Given the description of an element on the screen output the (x, y) to click on. 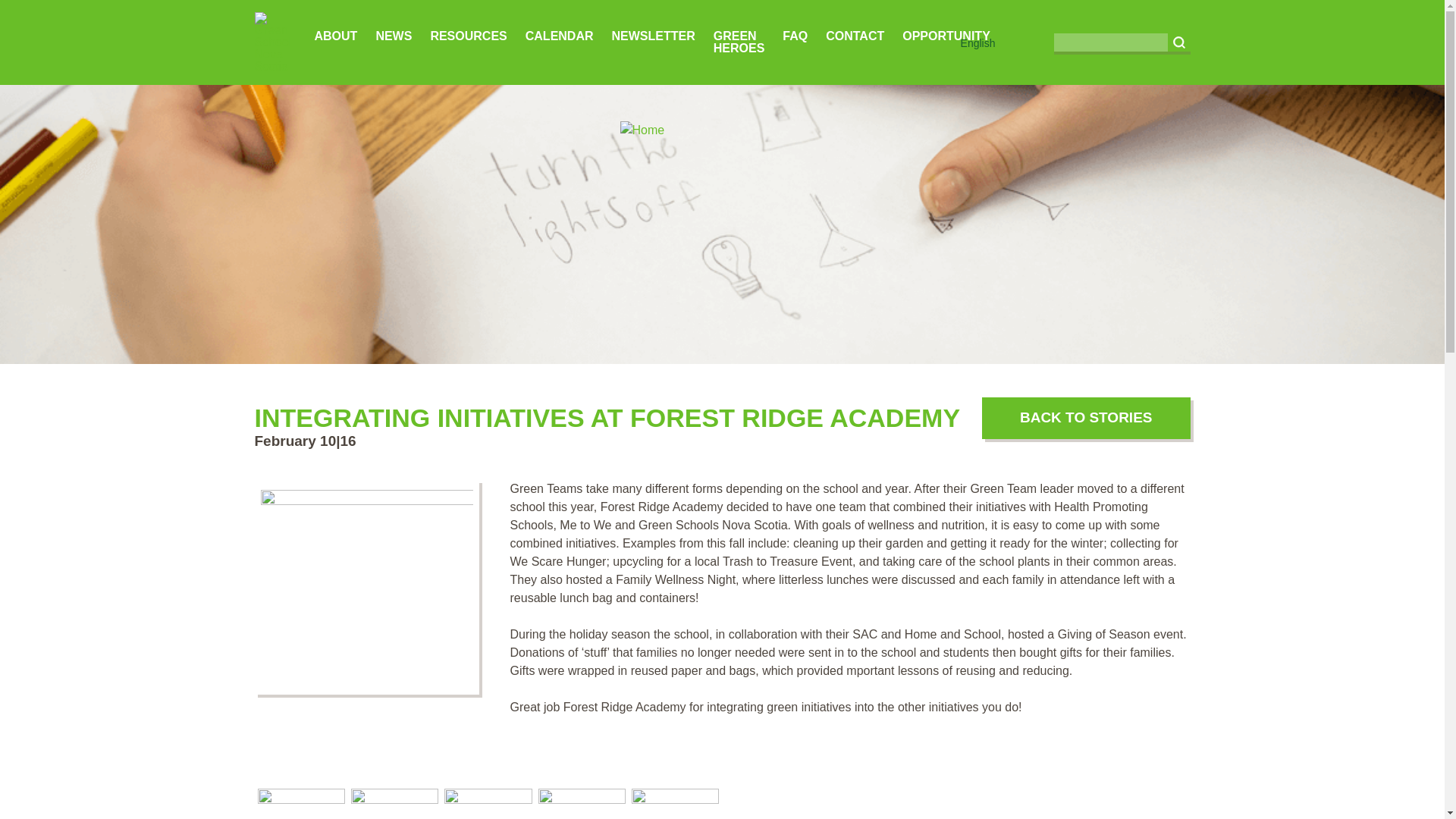
OPPORTUNITY (946, 36)
ABOUT (335, 36)
Search (1179, 42)
English (977, 42)
CALENDAR (559, 36)
FAQ (795, 36)
Search (1179, 42)
NEWSLETTER (653, 36)
CONTACT (854, 36)
English (977, 42)
